Given the description of an element on the screen output the (x, y) to click on. 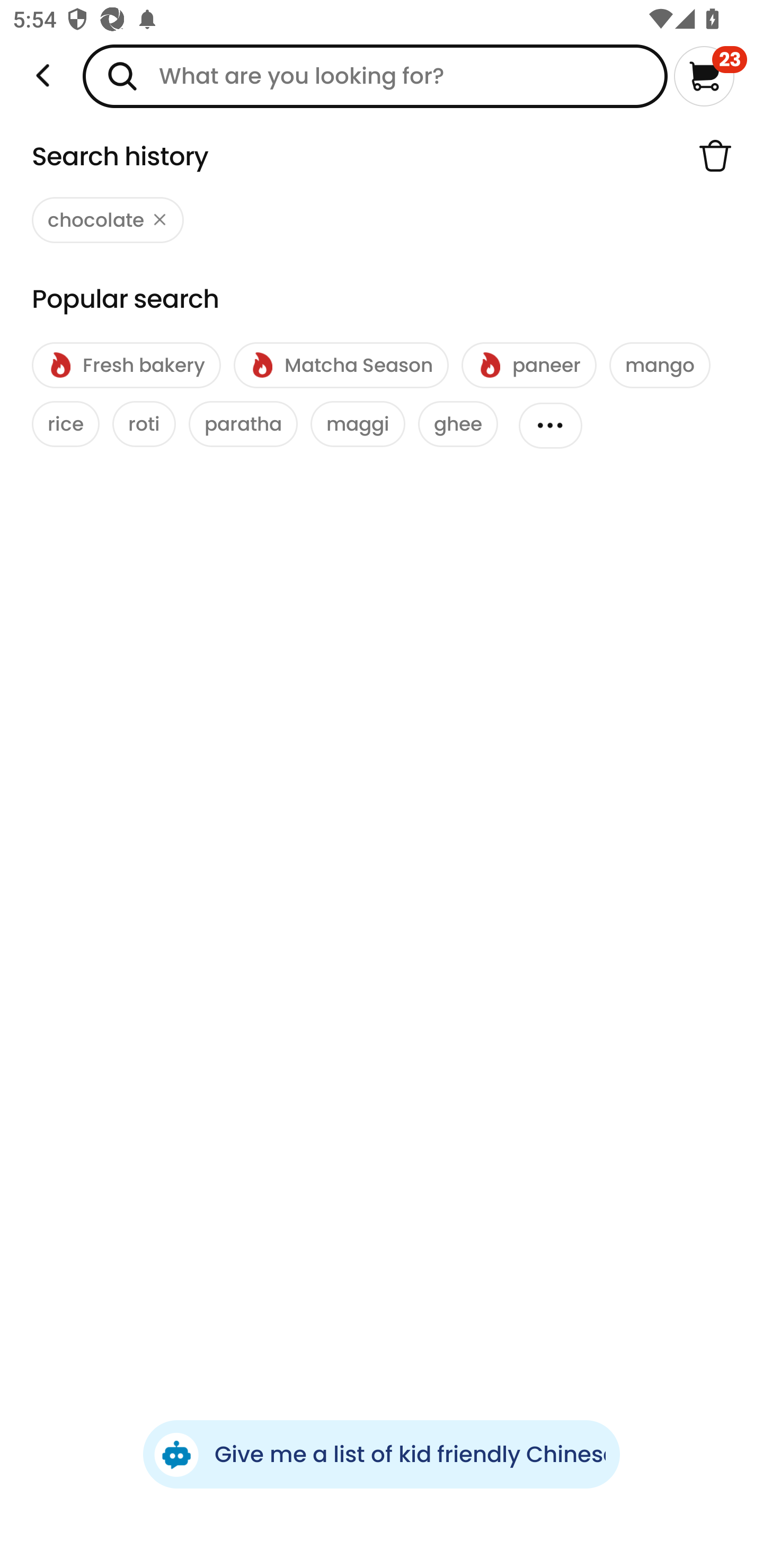
What are you looking for? (374, 75)
23 (709, 75)
Weee! (42, 76)
chocolate (107, 220)
Fresh bakery (126, 364)
Matcha Season (340, 364)
paneer (528, 364)
mango (659, 364)
rice (65, 423)
roti (144, 423)
paratha (242, 423)
maggi (357, 423)
ghee (458, 423)
